Given the description of an element on the screen output the (x, y) to click on. 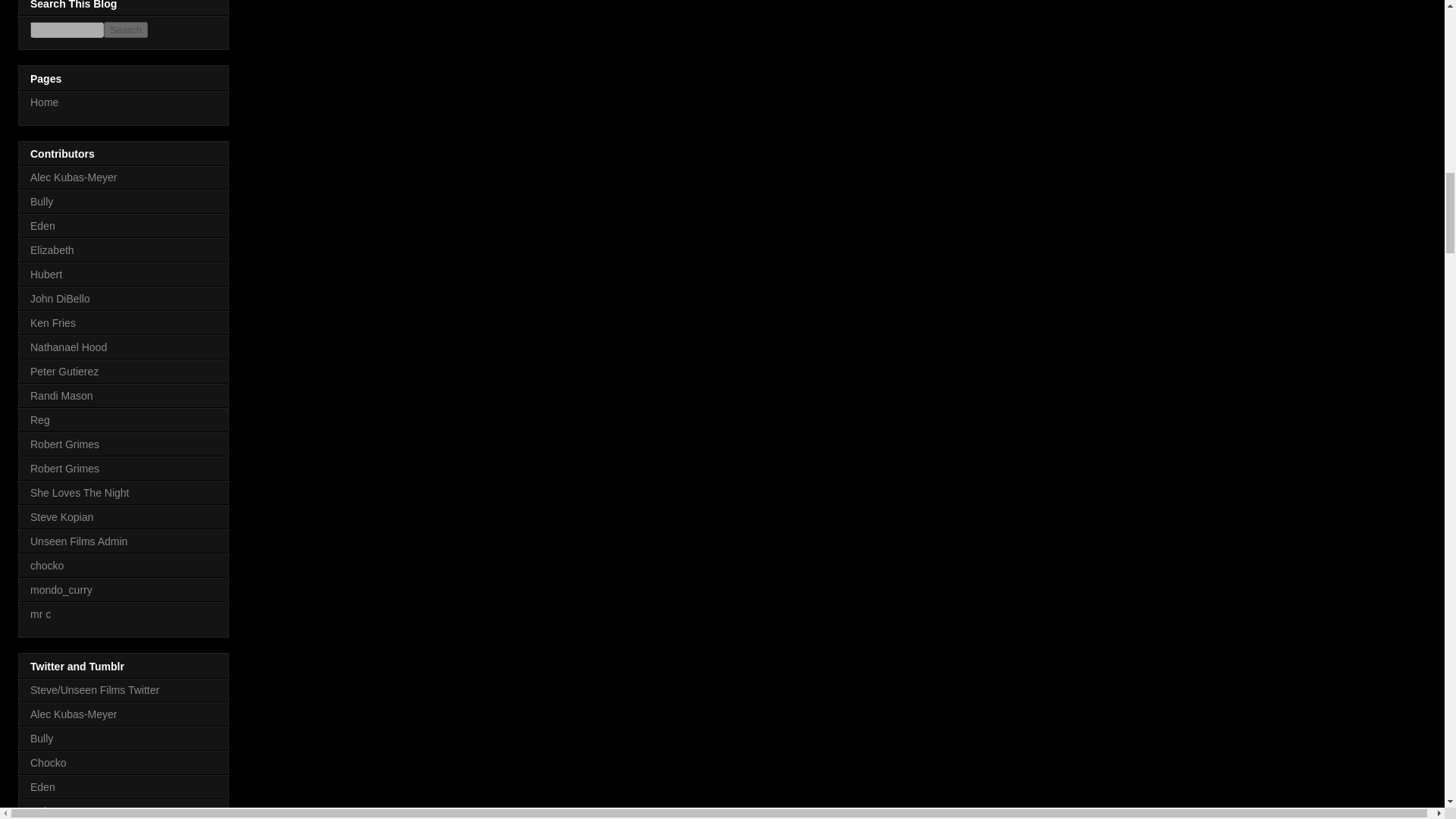
Home (44, 102)
Search (125, 29)
Reg (39, 419)
Hubert (46, 274)
Ken Fries (52, 322)
Unseen Films Admin (79, 541)
search (66, 29)
Search (125, 29)
Alec Kubas-Meyer (73, 177)
Search (125, 29)
chocko (47, 565)
She Loves The Night (79, 492)
John DiBello (60, 298)
Peter Gutierez (64, 371)
Elizabeth (52, 250)
